Given the description of an element on the screen output the (x, y) to click on. 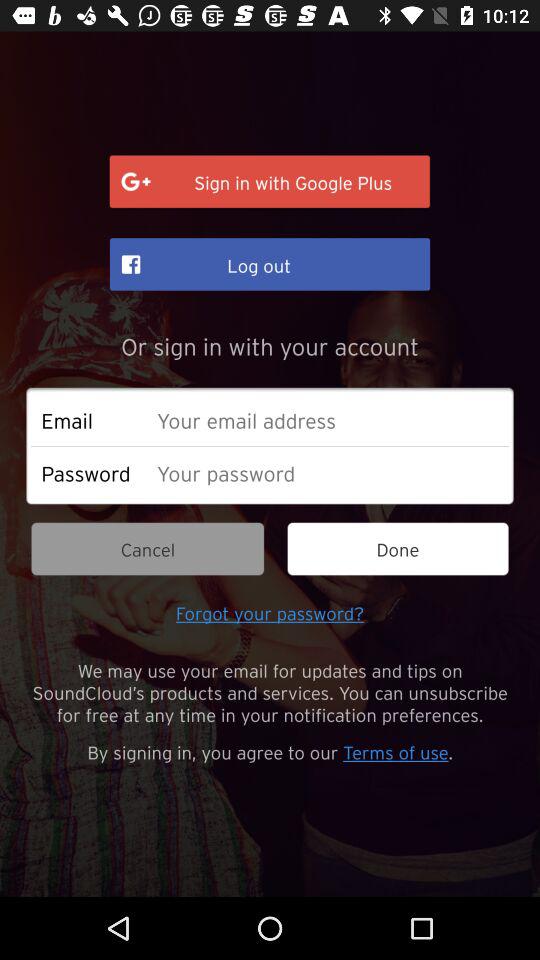
launch item below cancel (269, 612)
